Given the description of an element on the screen output the (x, y) to click on. 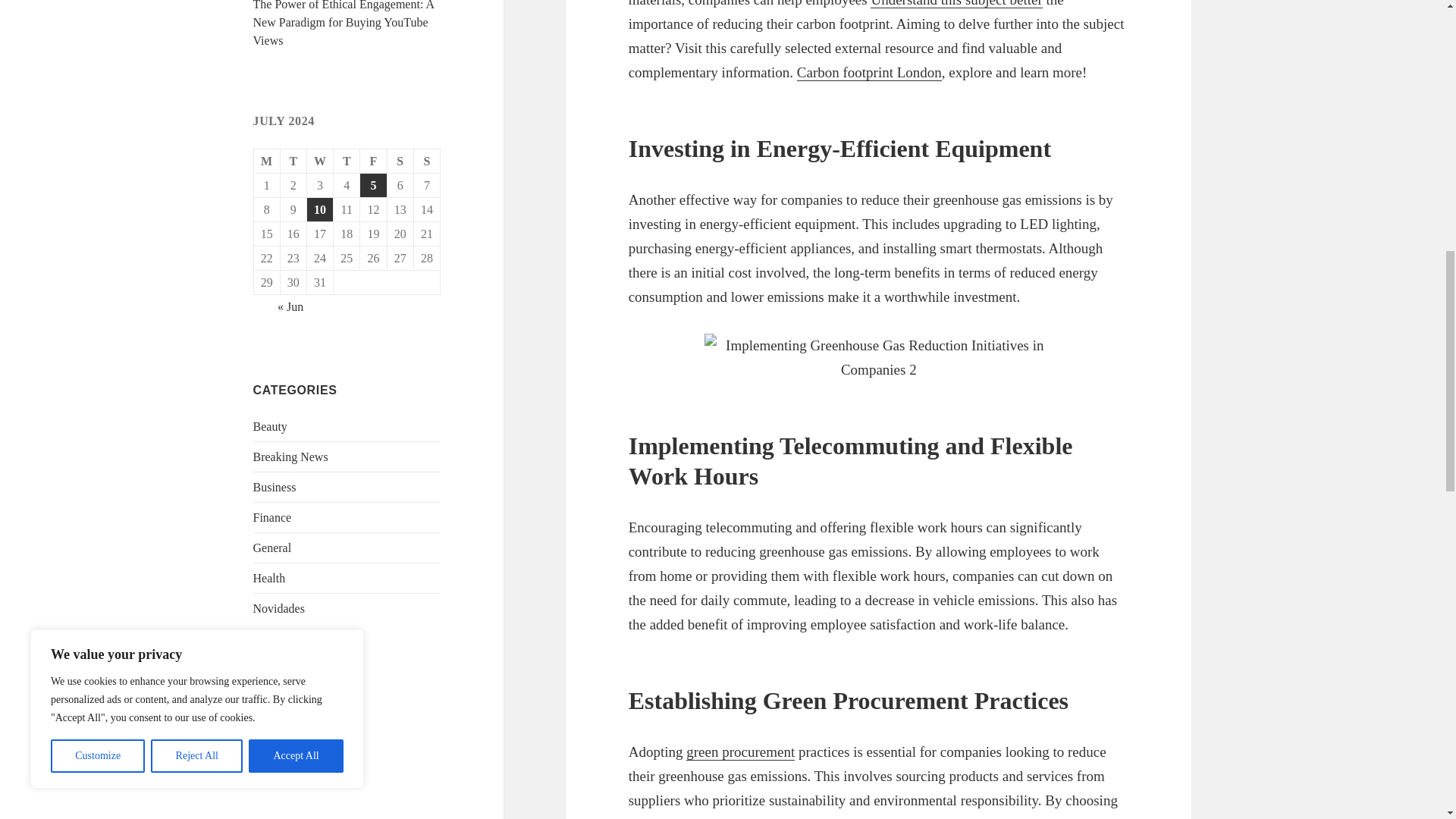
Saturday (400, 161)
Monday (267, 161)
General (272, 547)
Wednesday (320, 161)
Friday (373, 161)
Sunday (427, 161)
Tuesday (294, 161)
Beauty (269, 426)
10 (320, 209)
Breaking News (291, 456)
Health (269, 577)
Thursday (346, 161)
Business (275, 486)
Finance (272, 517)
